Given the description of an element on the screen output the (x, y) to click on. 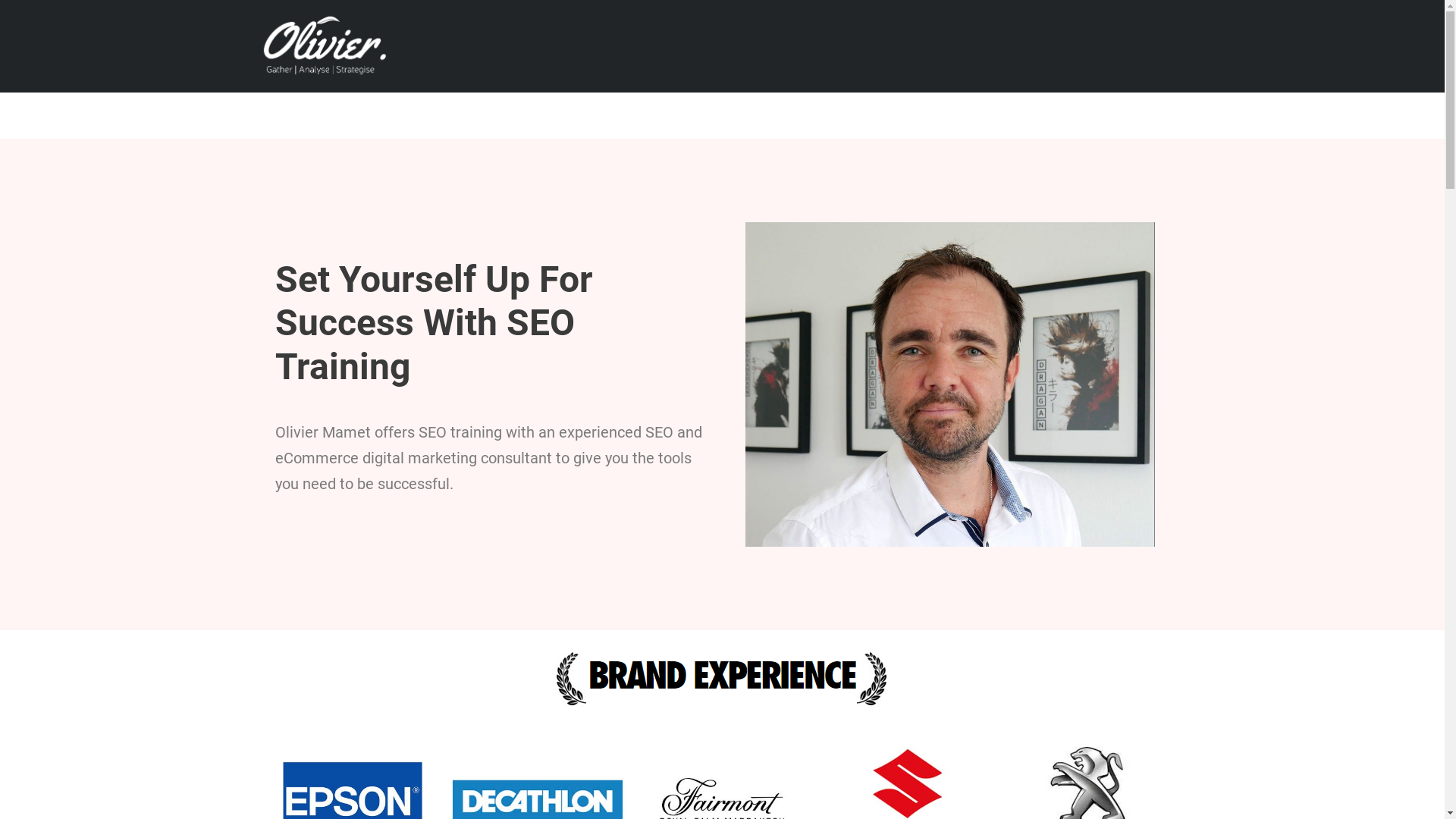
Olivier Logo Element type: hover (319, 44)
